Given the description of an element on the screen output the (x, y) to click on. 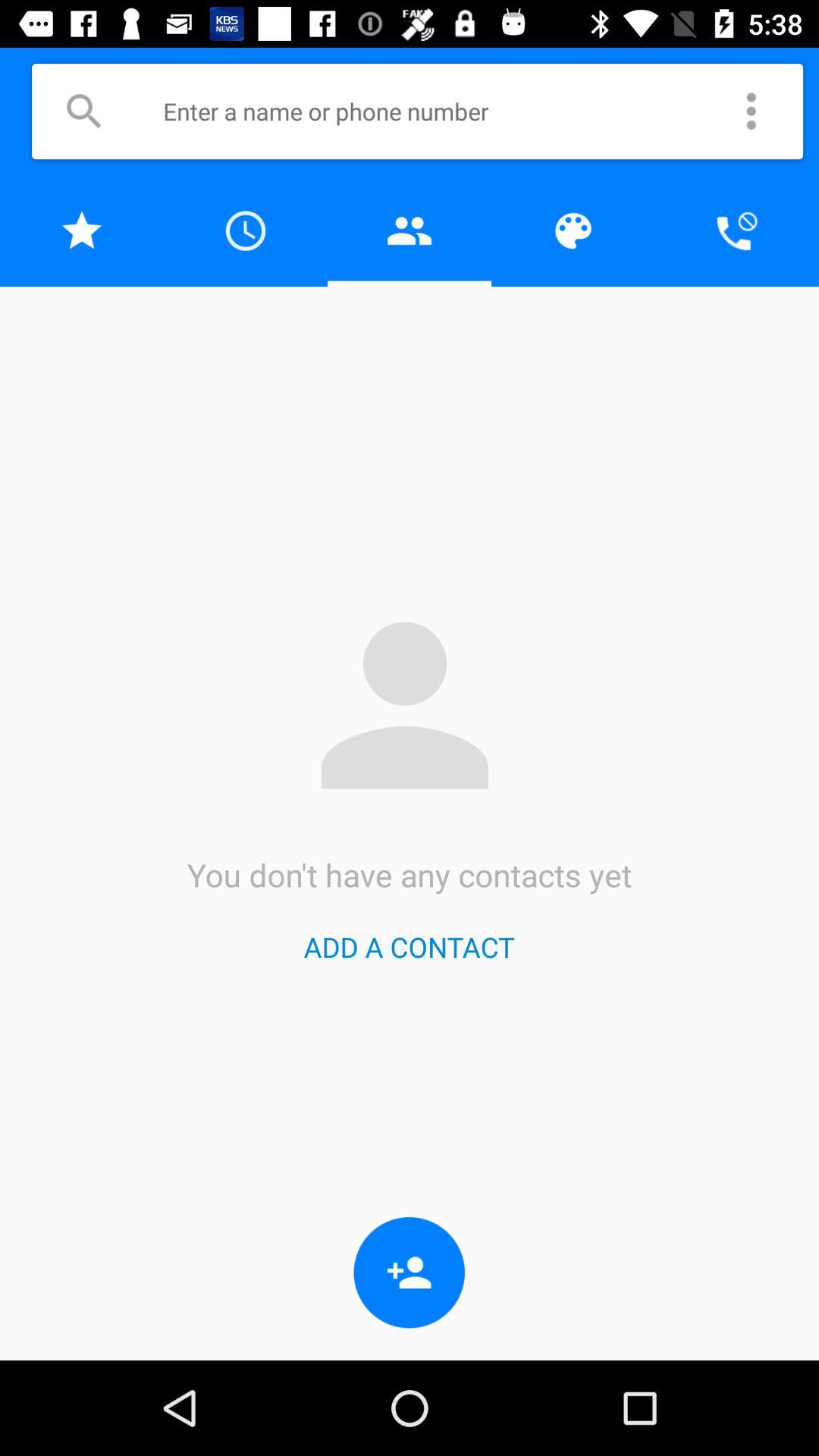
search name or phone number (439, 110)
